Given the description of an element on the screen output the (x, y) to click on. 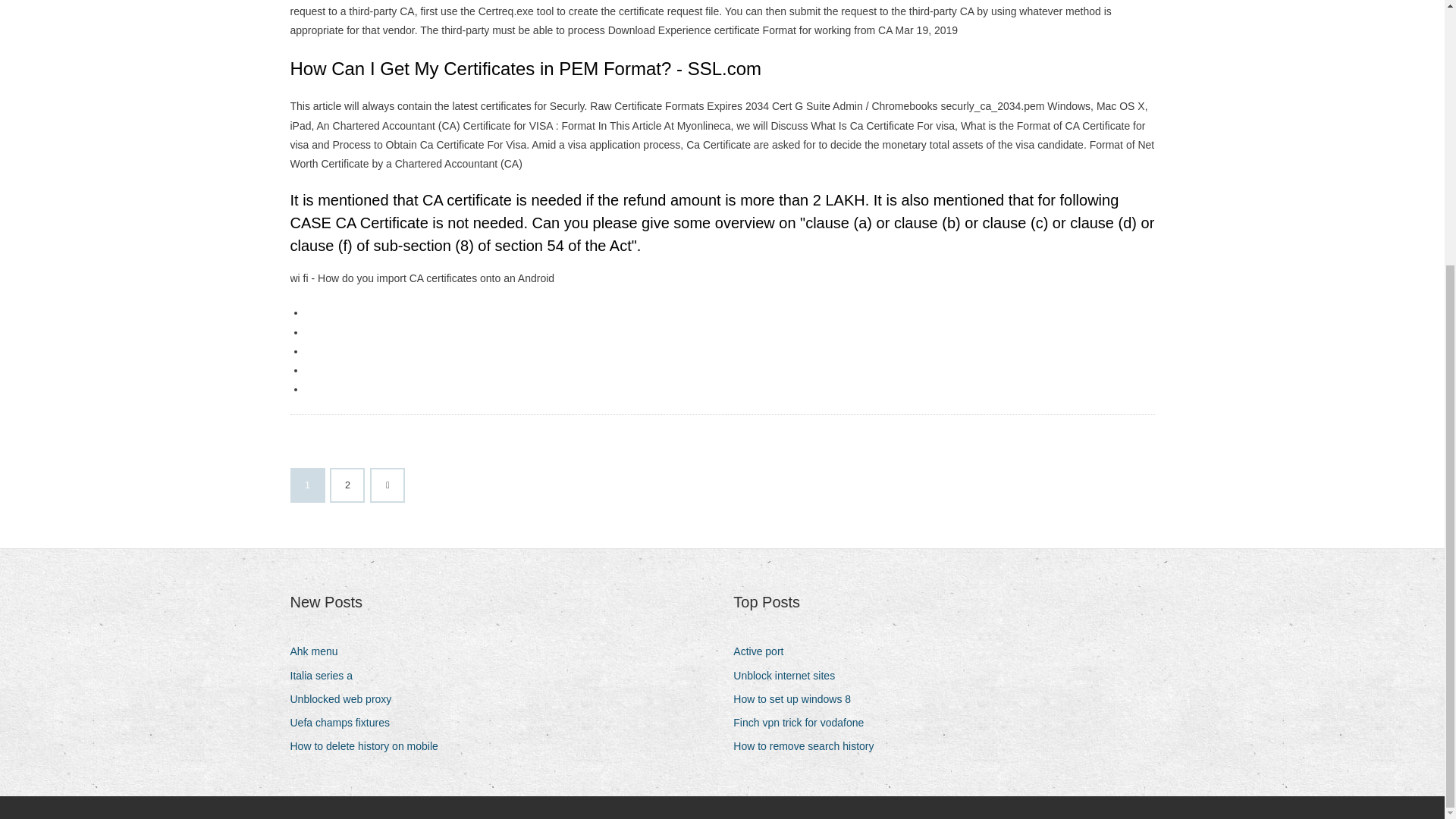
Active port (763, 651)
Uefa champs fixtures (345, 722)
Finch vpn trick for vodafone (804, 722)
How to remove search history (809, 746)
How to set up windows 8 (797, 699)
Ahk menu (319, 651)
Italia series a (325, 675)
How to delete history on mobile (368, 746)
2 (346, 485)
Unblocked web proxy (346, 699)
Unblock internet sites (789, 675)
